Given the description of an element on the screen output the (x, y) to click on. 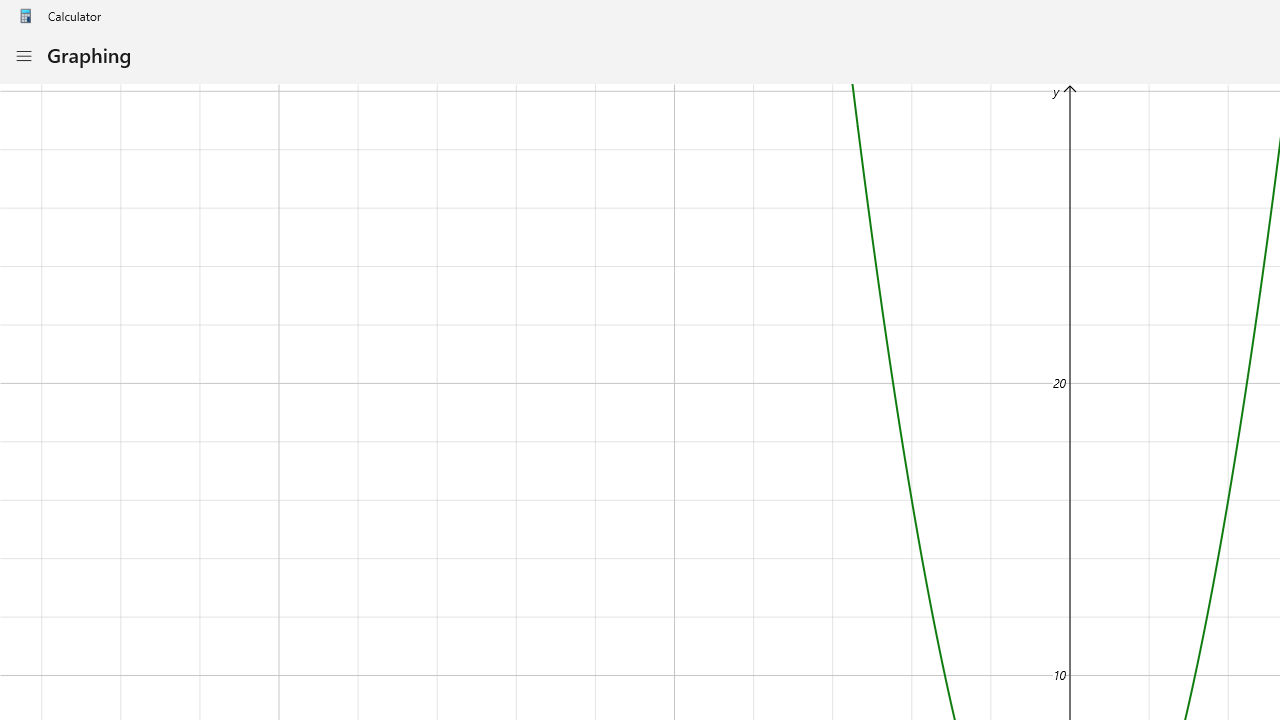
Open Navigation (23, 56)
